Given the description of an element on the screen output the (x, y) to click on. 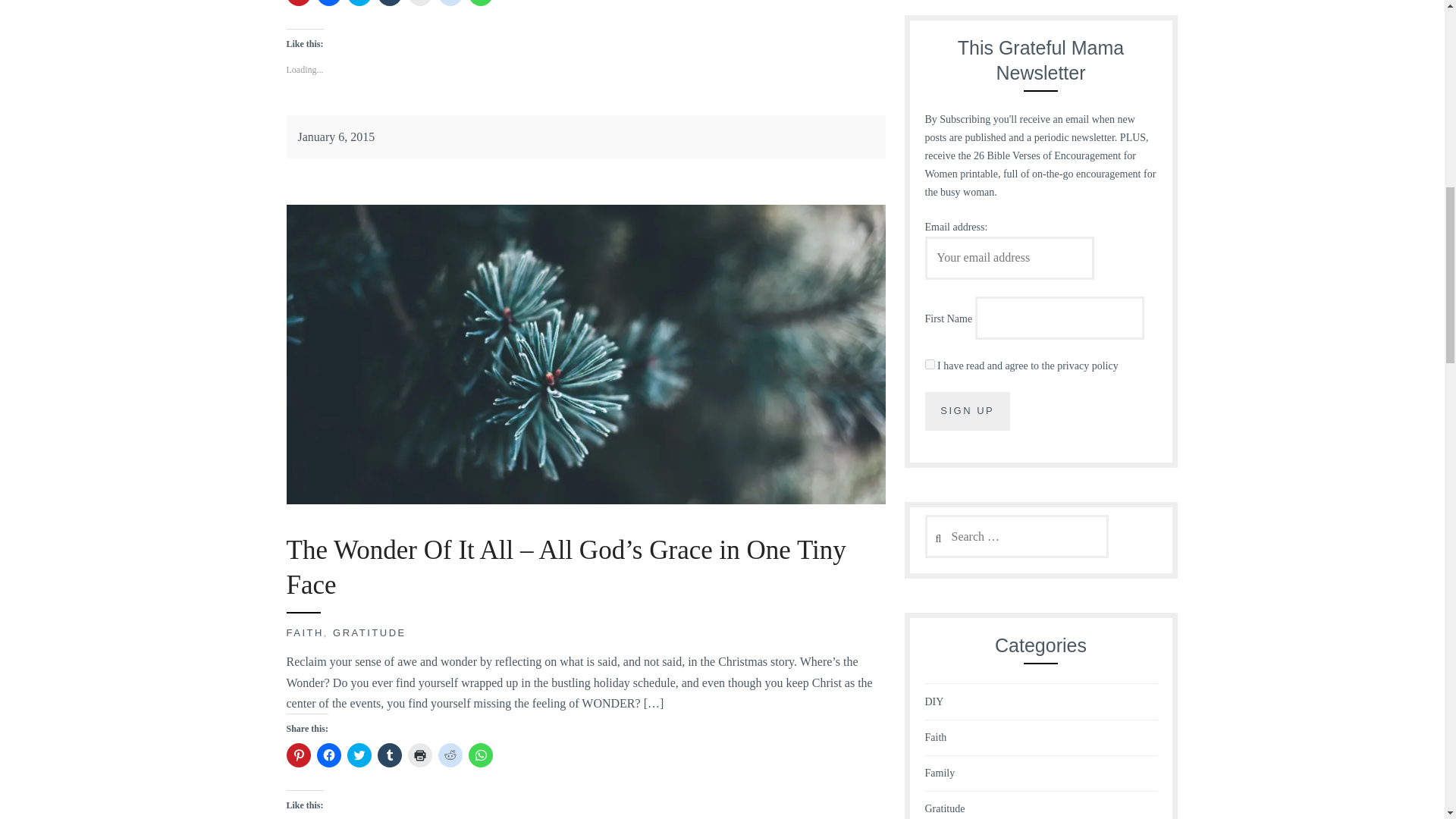
Click to share on Twitter (359, 2)
GRATITUDE (369, 632)
January 6, 2015 (335, 136)
Click to share on Facebook (328, 754)
Click to print (419, 2)
Click to share on Tumblr (389, 2)
Click to share on Twitter (359, 754)
Click to share on Tumblr (389, 754)
1 (929, 364)
Click to share on Reddit (450, 2)
Sign up (967, 411)
Click to share on Pinterest (298, 2)
Click to share on Facebook (328, 2)
Click to share on WhatsApp (480, 2)
Click to print (419, 754)
